Given the description of an element on the screen output the (x, y) to click on. 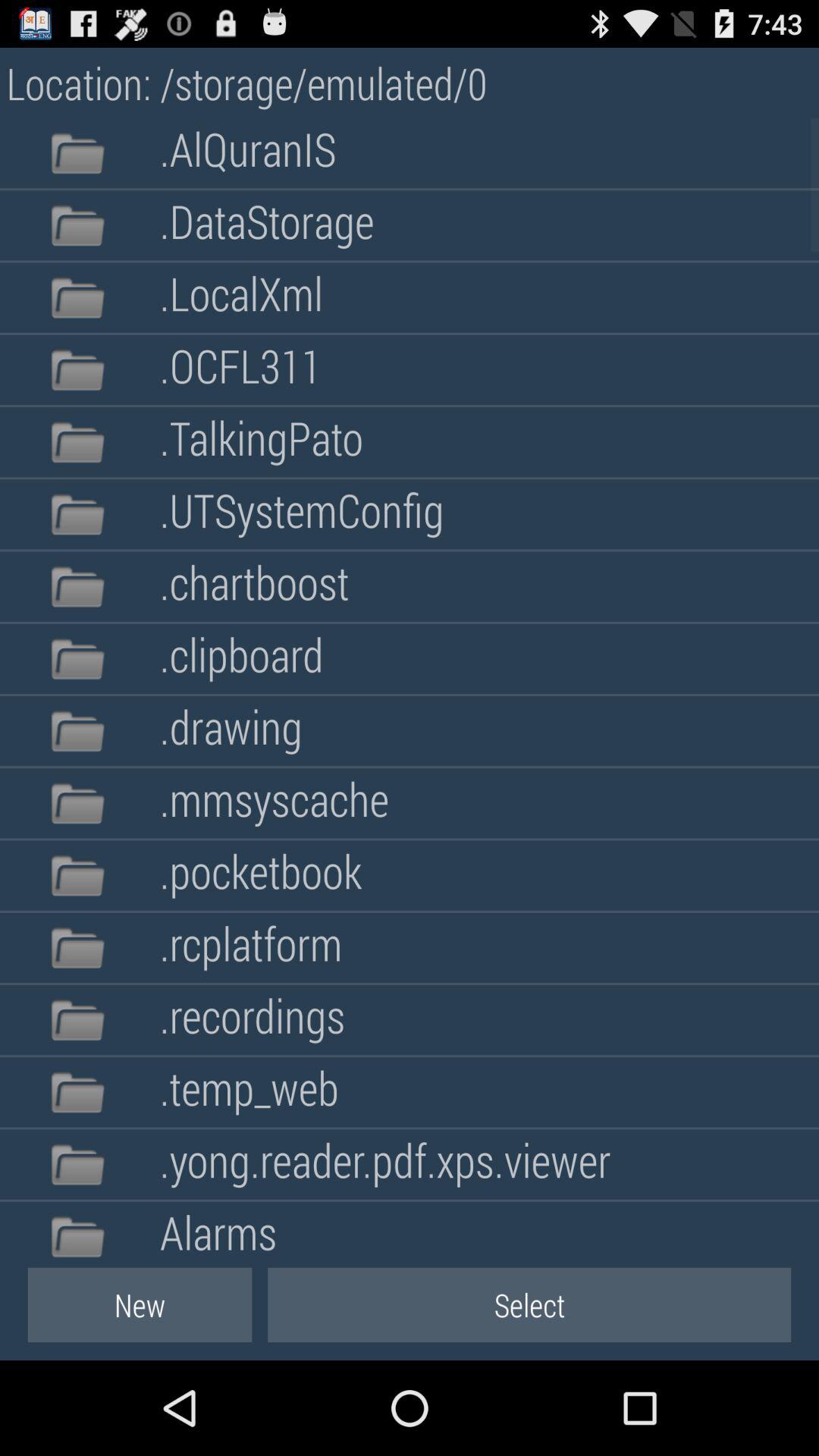
scroll until yong reader pdf item (384, 1164)
